Given the description of an element on the screen output the (x, y) to click on. 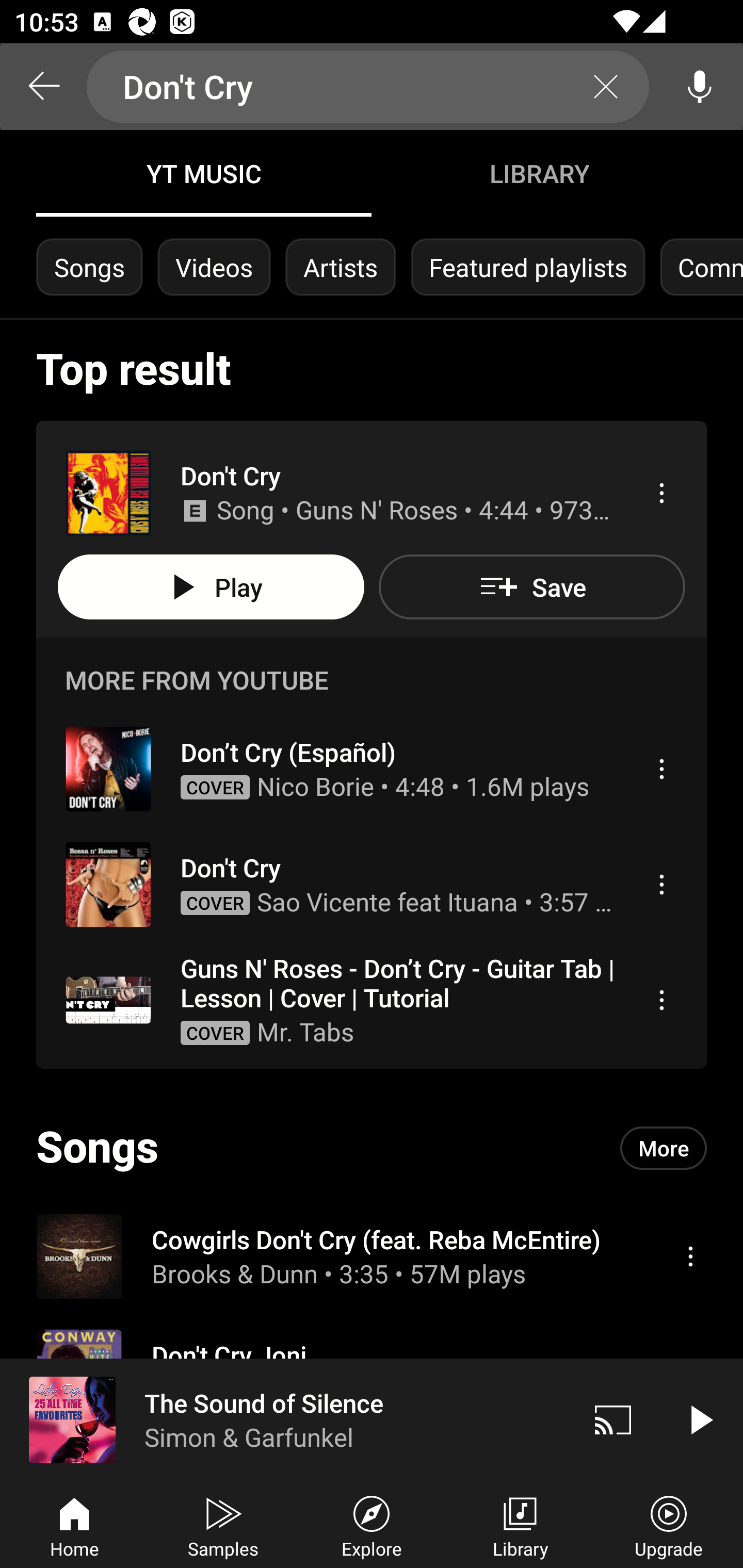
Search back (43, 86)
Don't Cry (367, 86)
Clear search (605, 86)
Voice search (699, 86)
Library LIBRARY (538, 173)
Menu (661, 492)
Play PLAY ALL (210, 587)
Save Save to playlist (531, 587)
Menu (661, 768)
Menu (661, 884)
Menu (661, 1000)
Songs More More (371, 1147)
More (663, 1147)
Menu (690, 1255)
The Sound of Silence Simon & Garfunkel (284, 1419)
Cast. Disconnected (612, 1419)
Play video (699, 1419)
Home (74, 1524)
Samples (222, 1524)
Explore (371, 1524)
Library (519, 1524)
Upgrade (668, 1524)
